Given the description of an element on the screen output the (x, y) to click on. 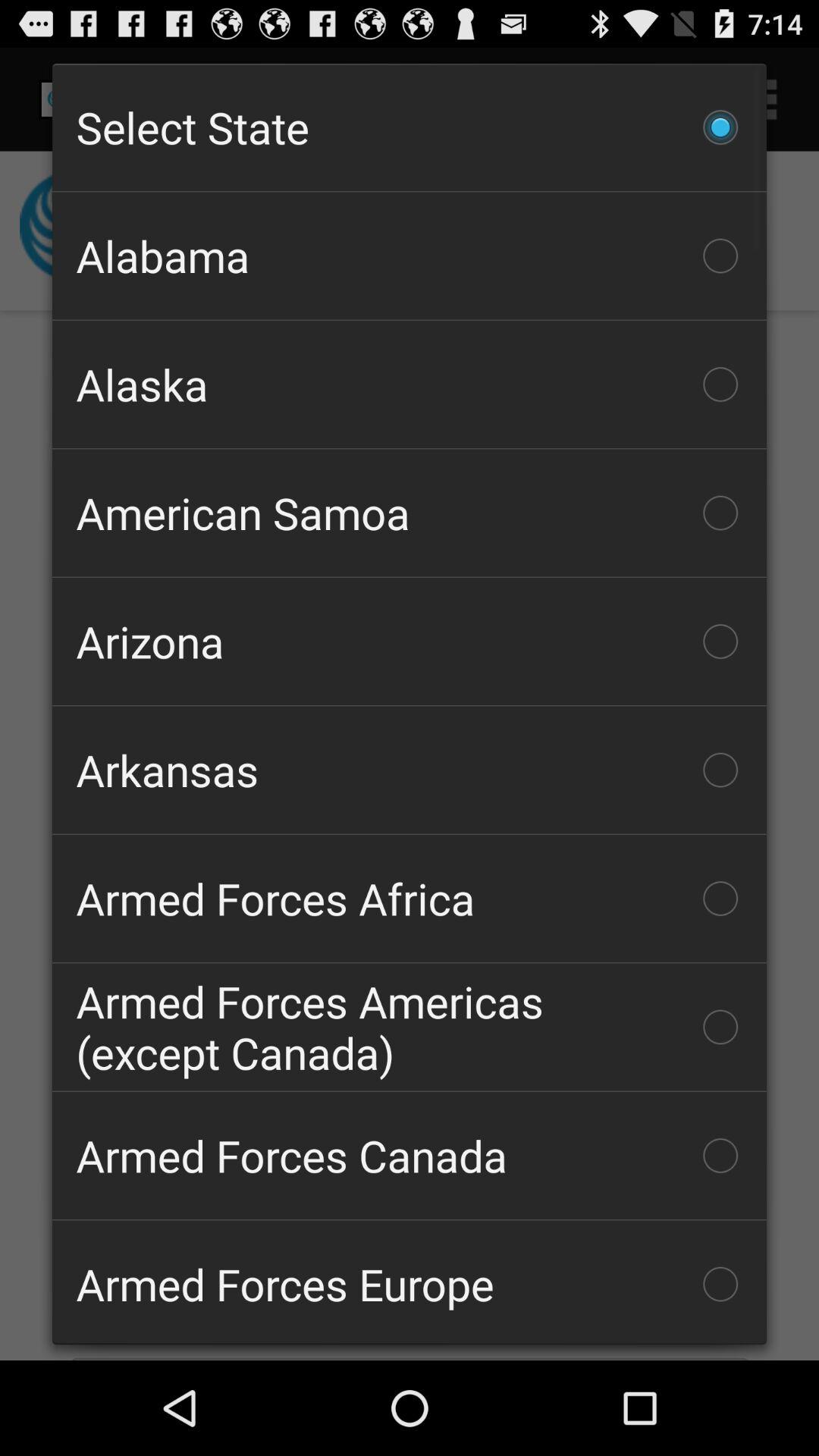
flip to the alaska item (409, 384)
